Given the description of an element on the screen output the (x, y) to click on. 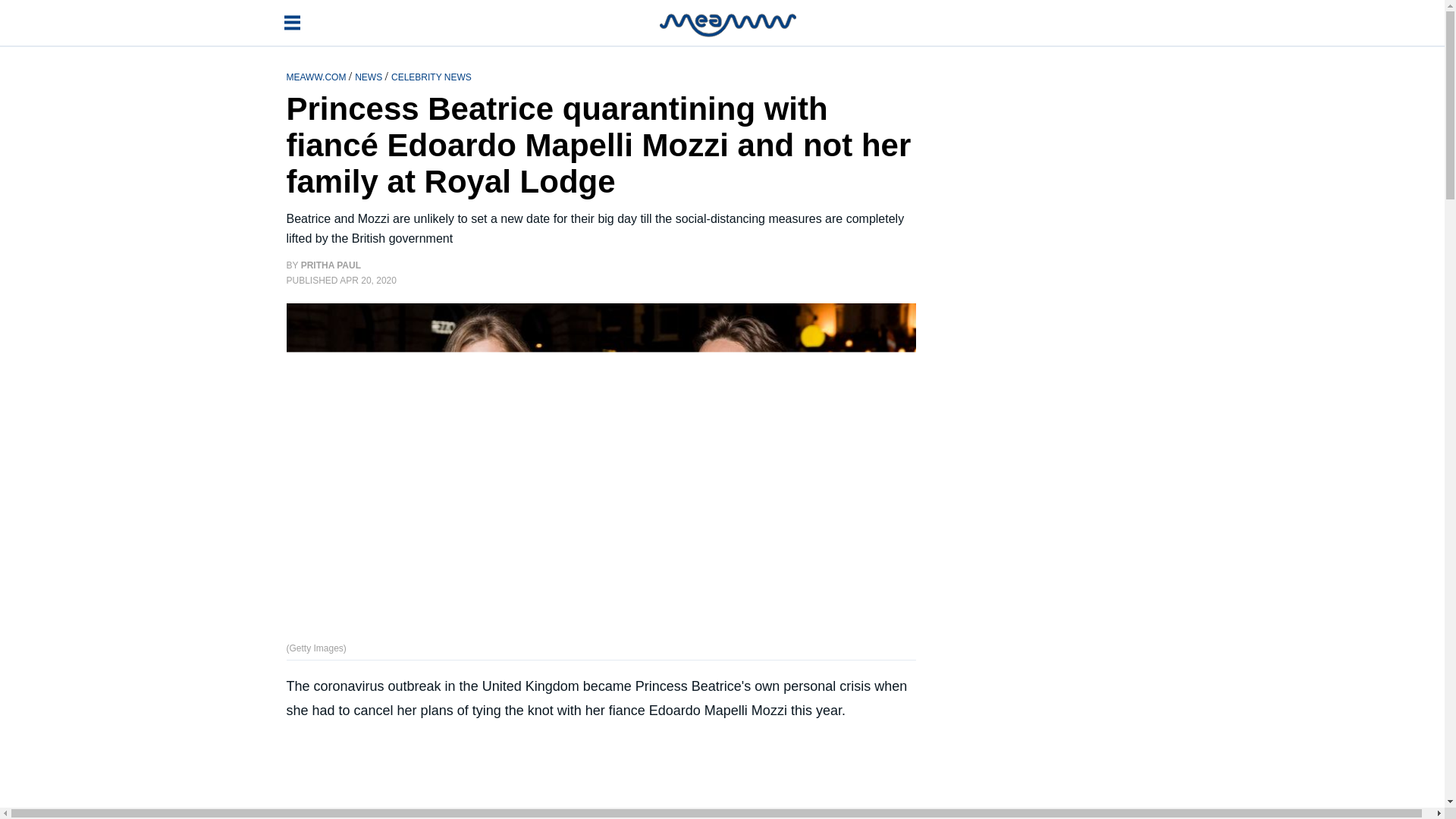
NEWS (369, 75)
PRITHA PAUL (331, 265)
CELEBRITY NEWS (431, 75)
MEAWW.COM (317, 75)
